Given the description of an element on the screen output the (x, y) to click on. 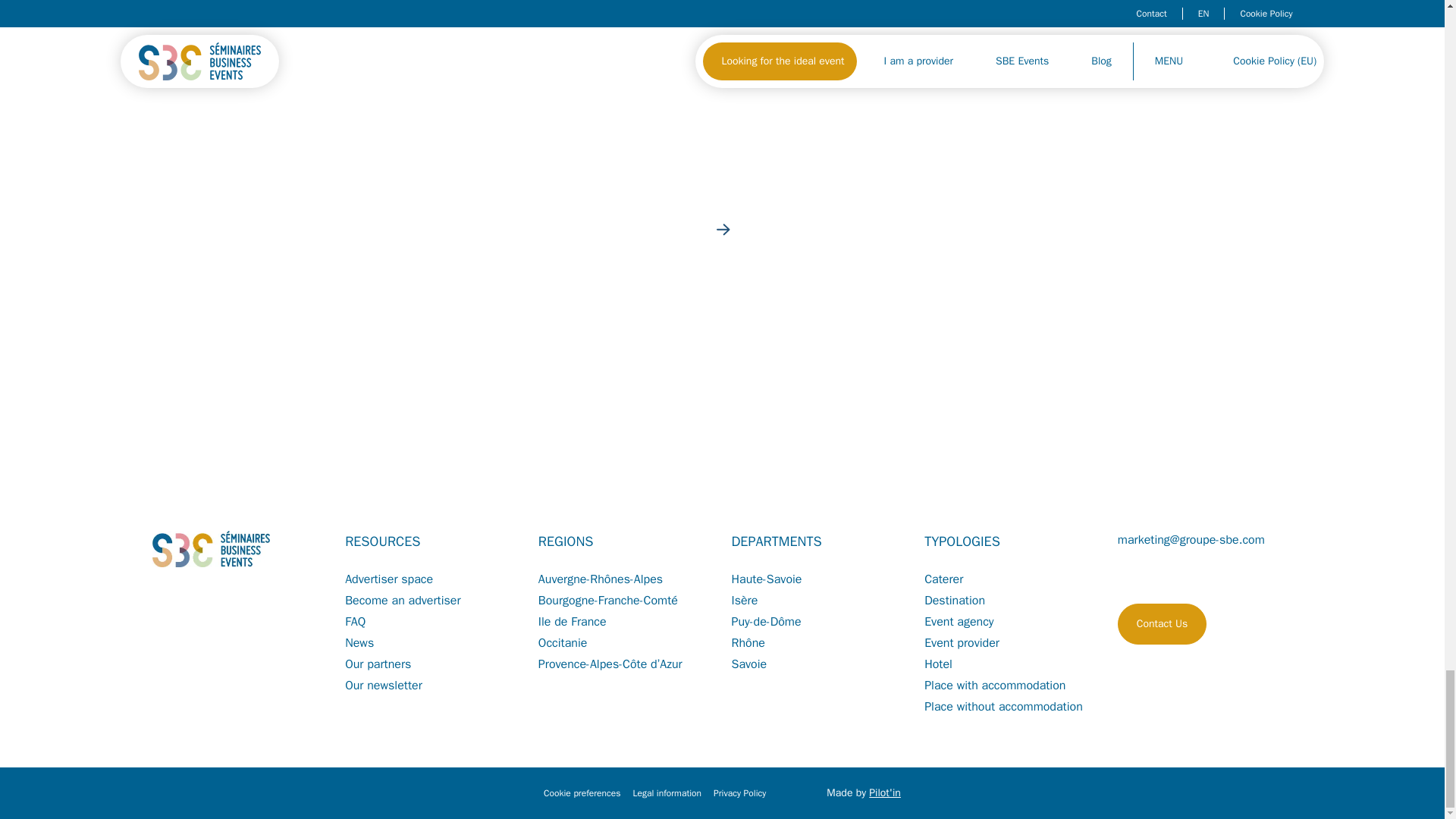
Join the SBE Club (368, 356)
